Given the description of an element on the screen output the (x, y) to click on. 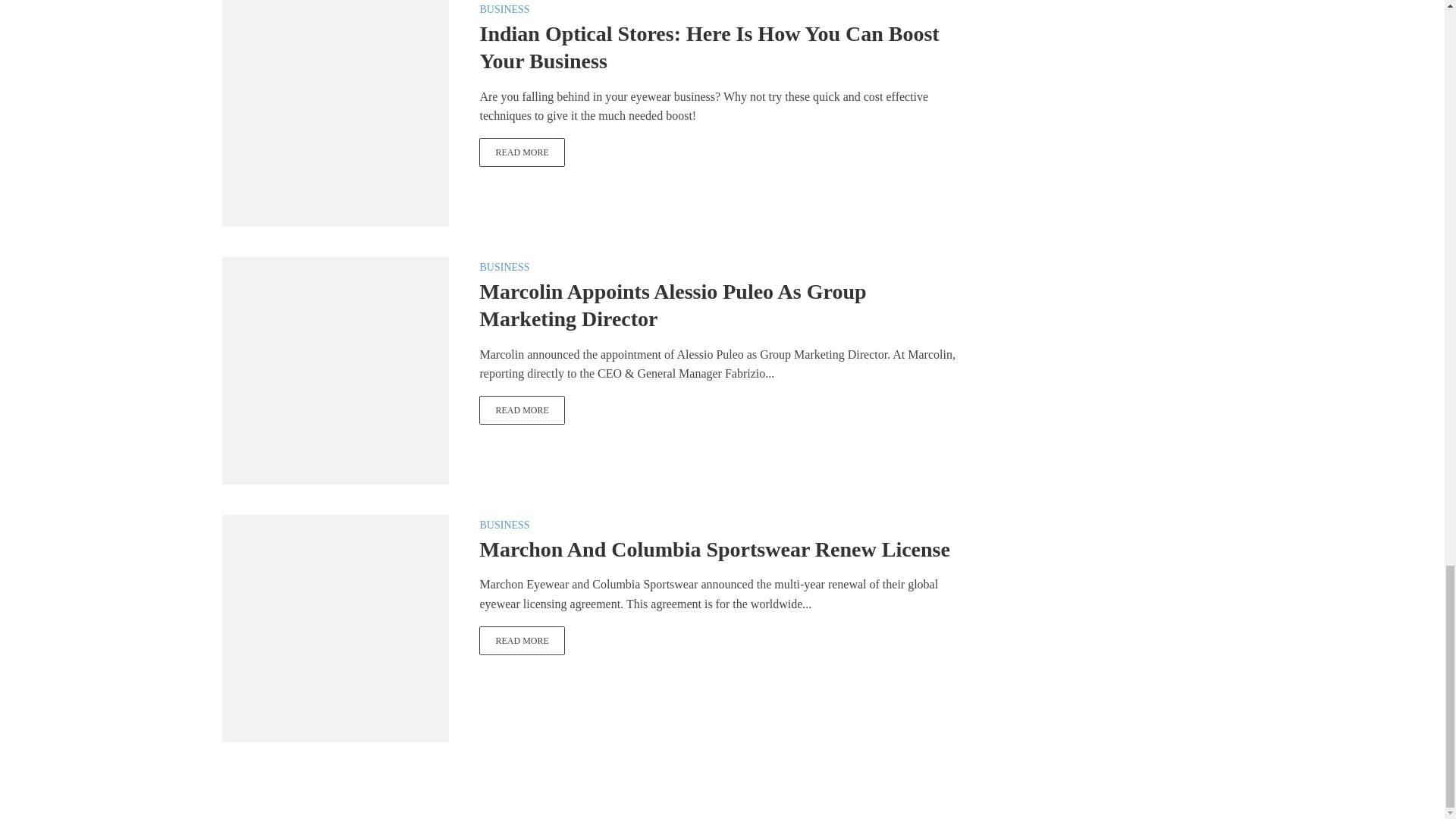
Marchon And Columbia Sportswear Renew License (521, 640)
Marcolin Appoints Alessio Puleo As Group Marketing Director (334, 369)
Marcolin Appoints Alessio Puleo As Group Marketing Director (521, 410)
Marchon And Columbia Sportswear Renew License (334, 626)
